Given the description of an element on the screen output the (x, y) to click on. 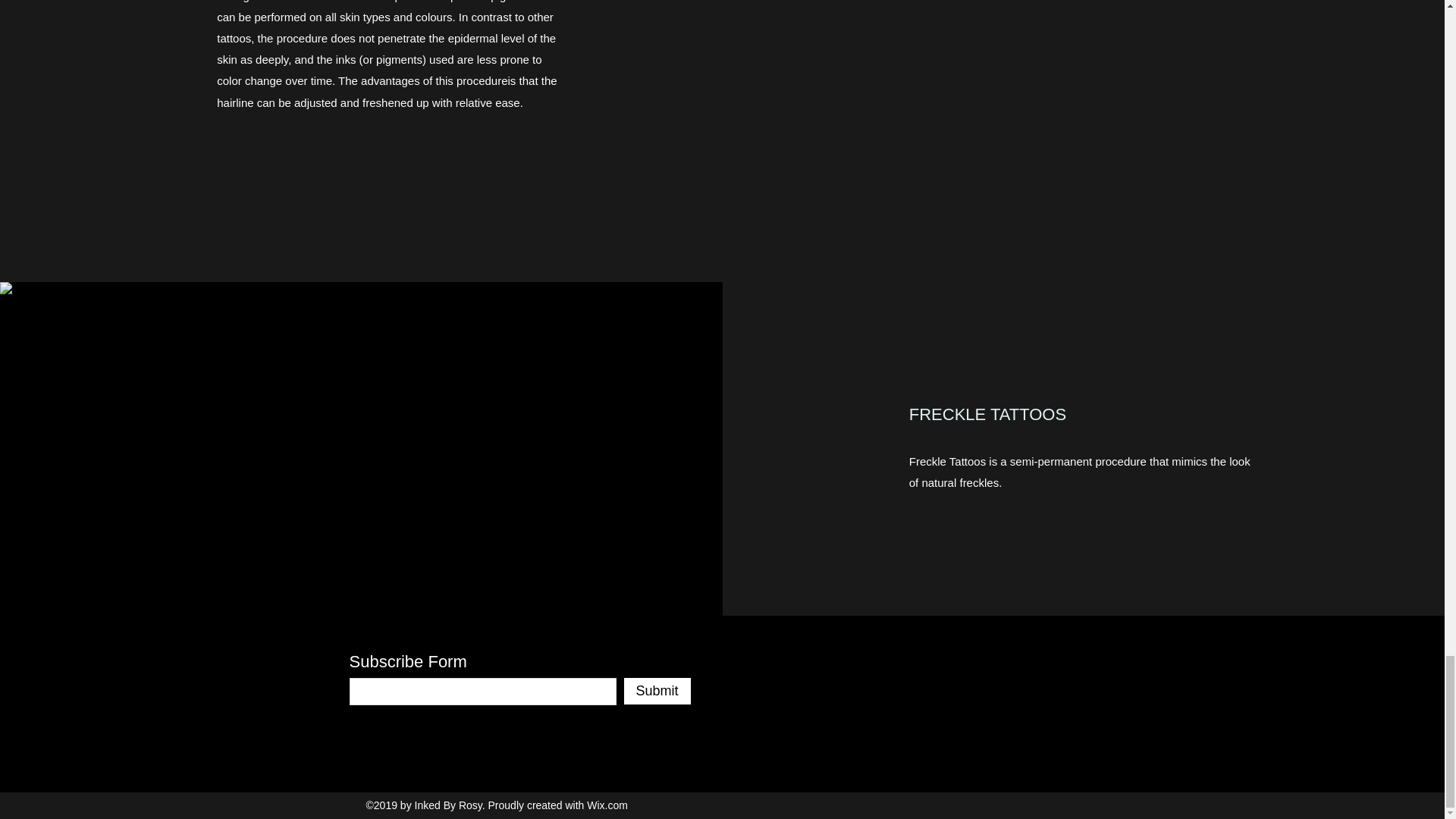
Submit (656, 691)
